Given the description of an element on the screen output the (x, y) to click on. 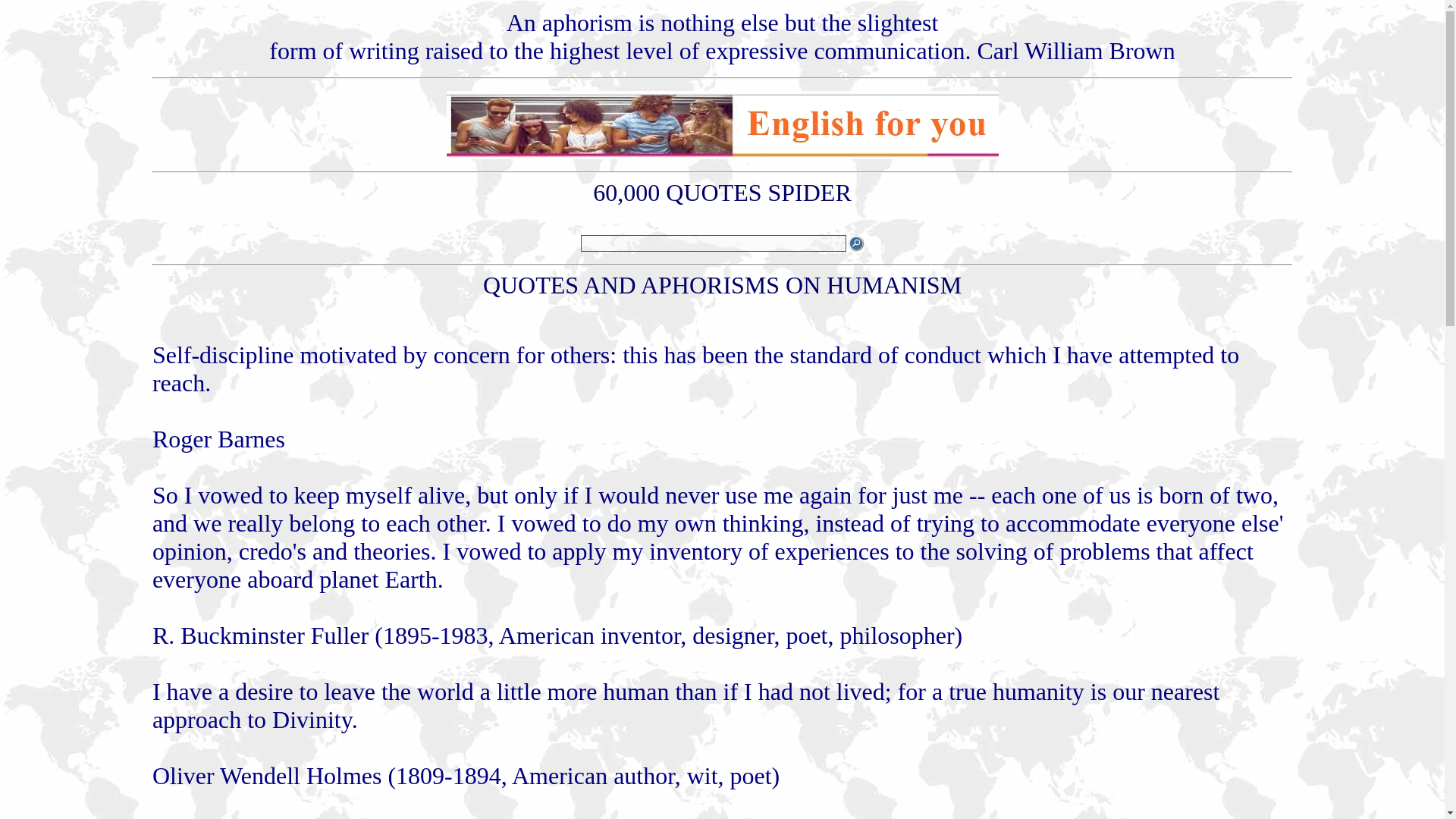
English culture blog and quotes (721, 154)
